Given the description of an element on the screen output the (x, y) to click on. 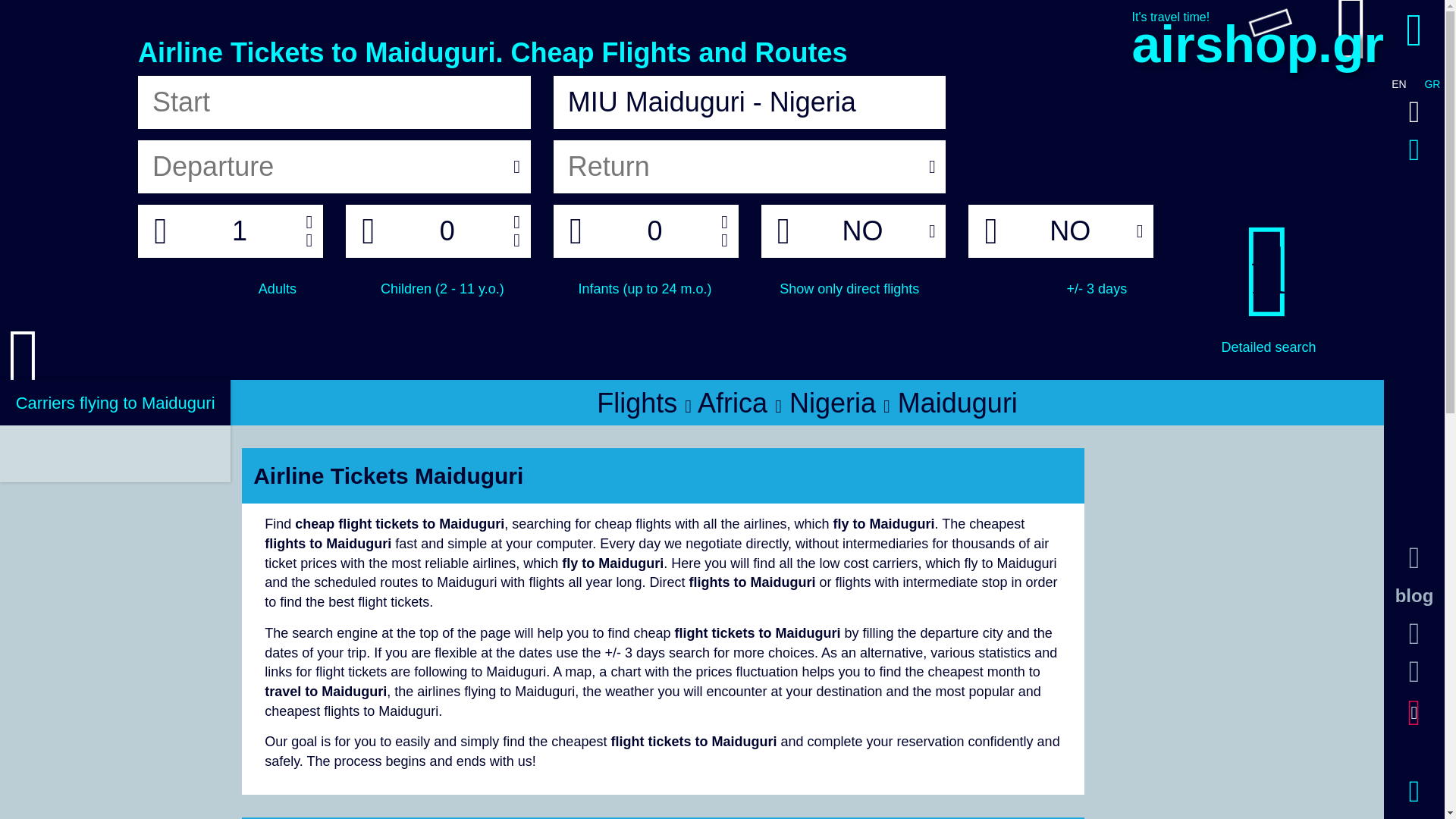
1 (239, 230)
Nigeria (836, 402)
0 (654, 230)
NO (1069, 230)
NO (862, 230)
MIU Maiduguri - Nigeria (749, 102)
Flights (640, 402)
0 (447, 230)
Africa (735, 402)
